Given the description of an element on the screen output the (x, y) to click on. 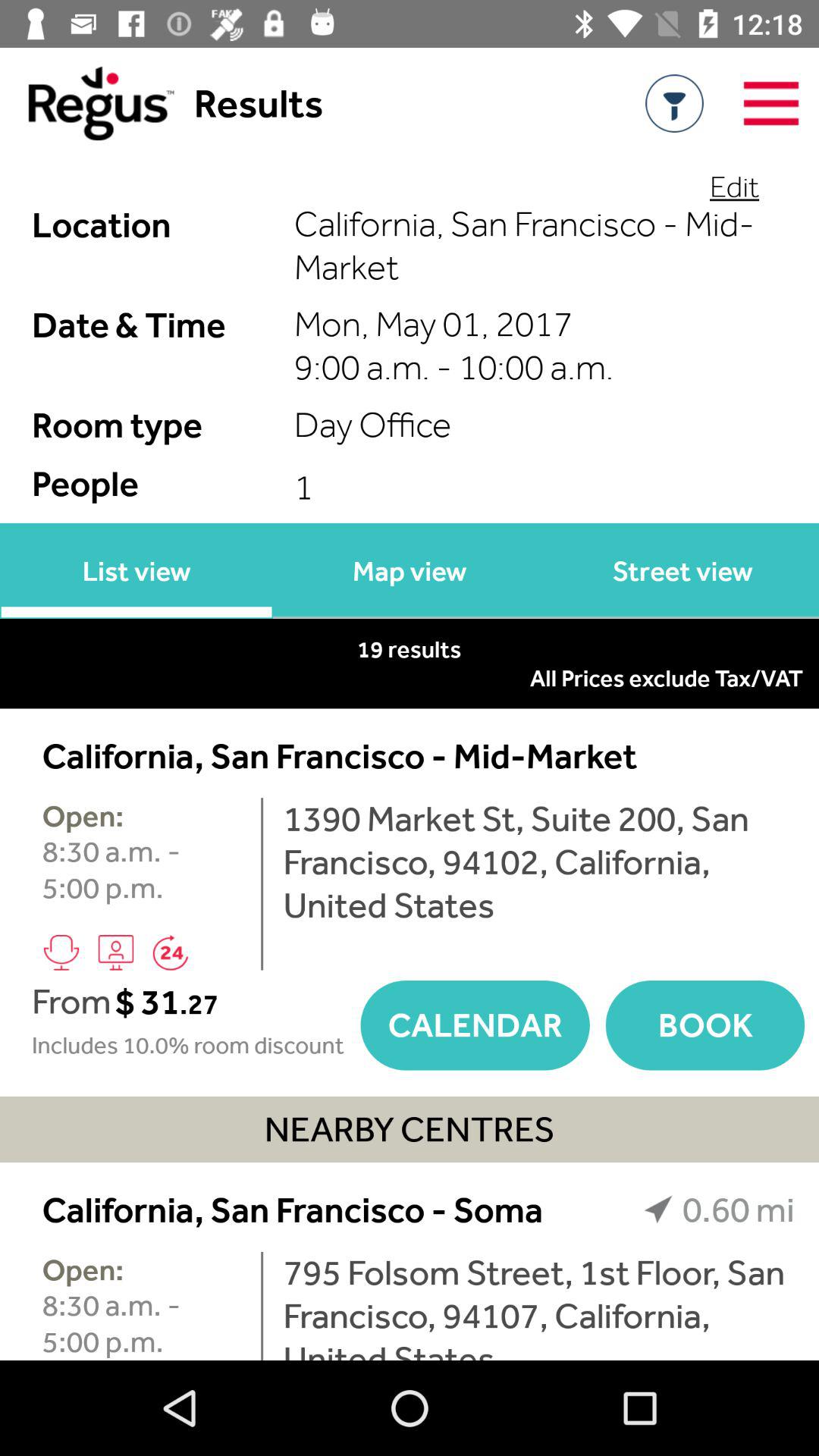
launch the 1390 market st (538, 861)
